Given the description of an element on the screen output the (x, y) to click on. 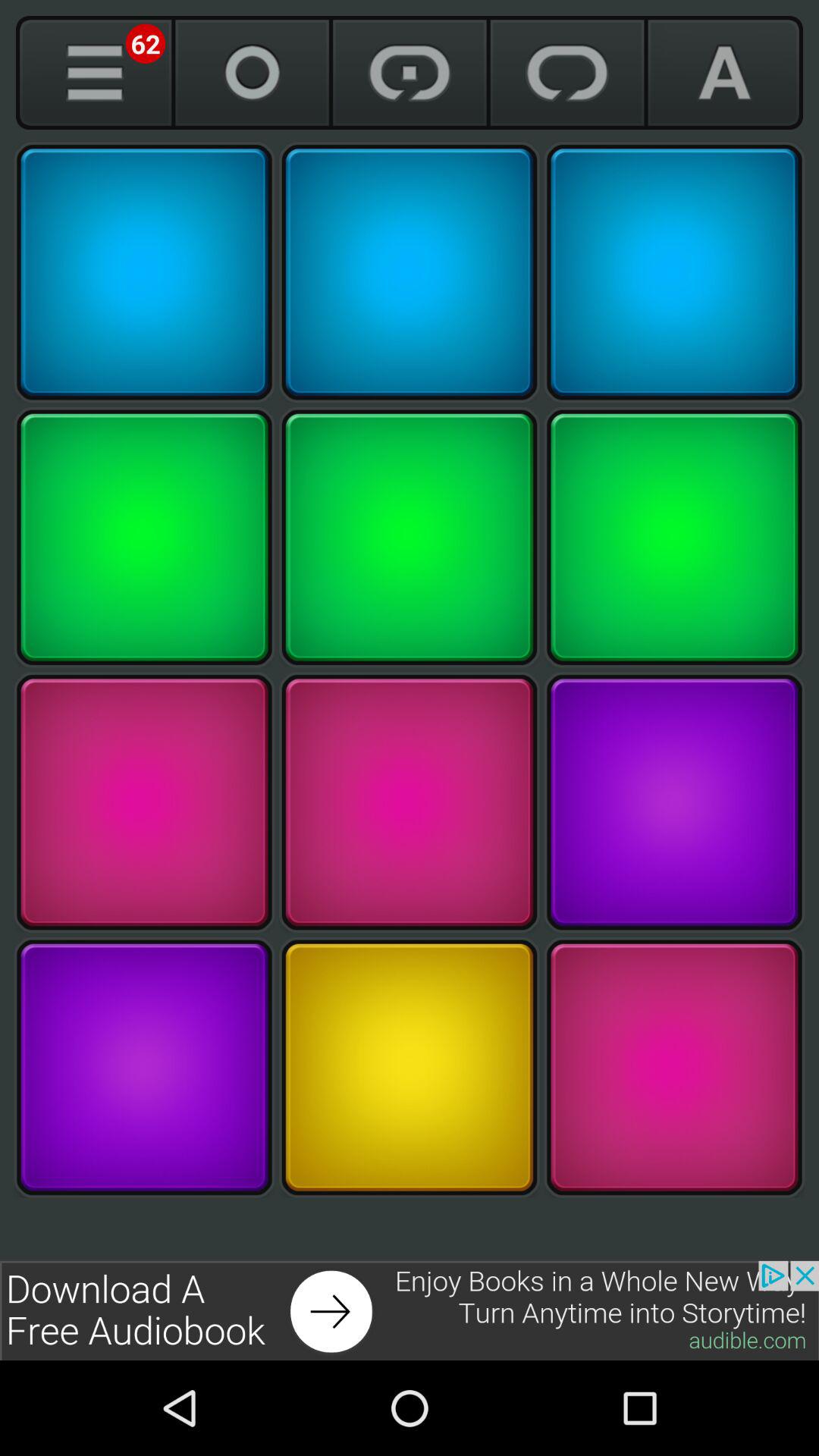
go to a (724, 72)
